Given the description of an element on the screen output the (x, y) to click on. 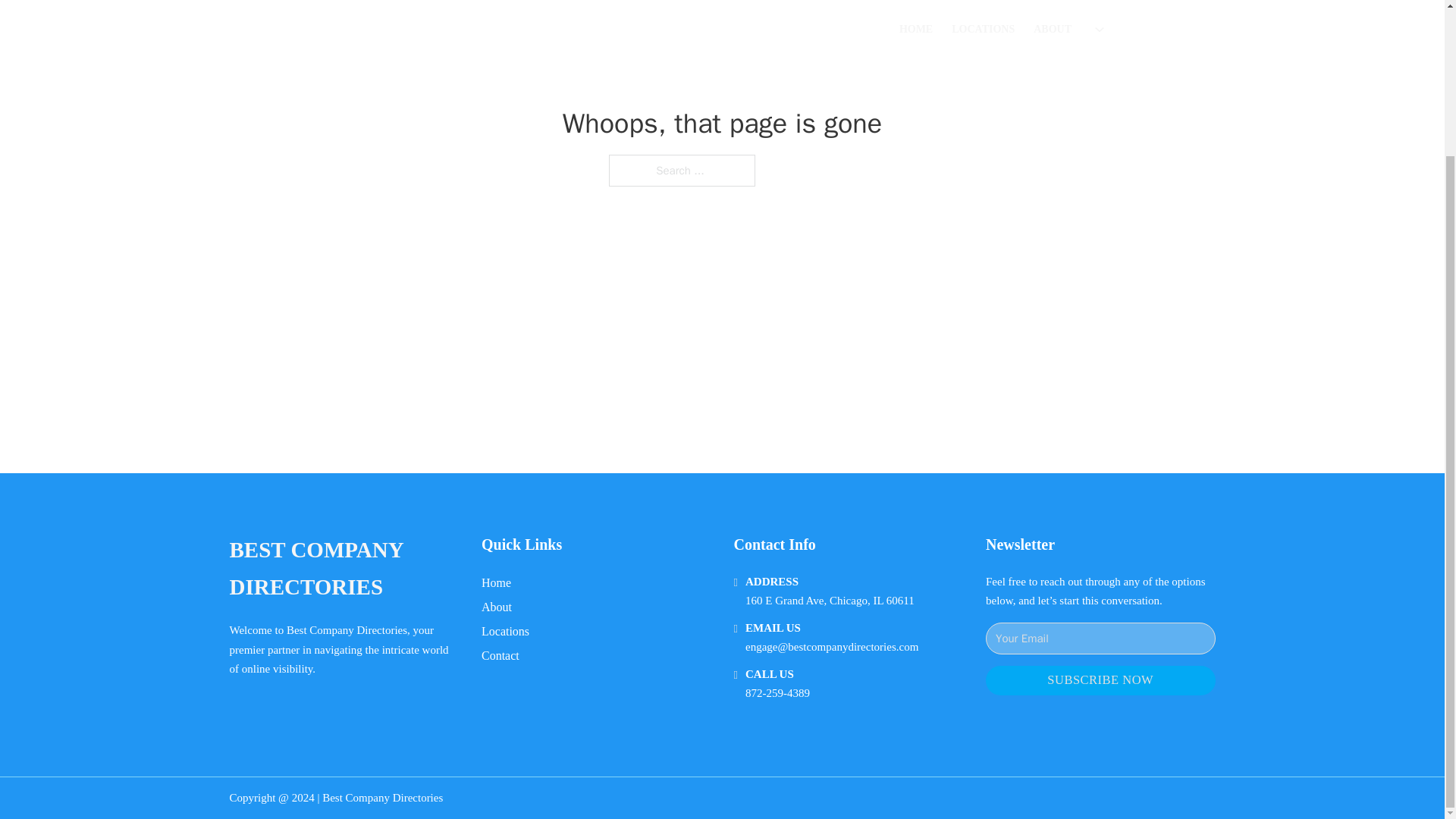
Contact (500, 655)
Home (496, 582)
About (496, 607)
SUBSCRIBE NOW (1100, 680)
872-259-4389 (777, 693)
BEST COMPANY DIRECTORIES (343, 568)
Locations (505, 630)
